Given the description of an element on the screen output the (x, y) to click on. 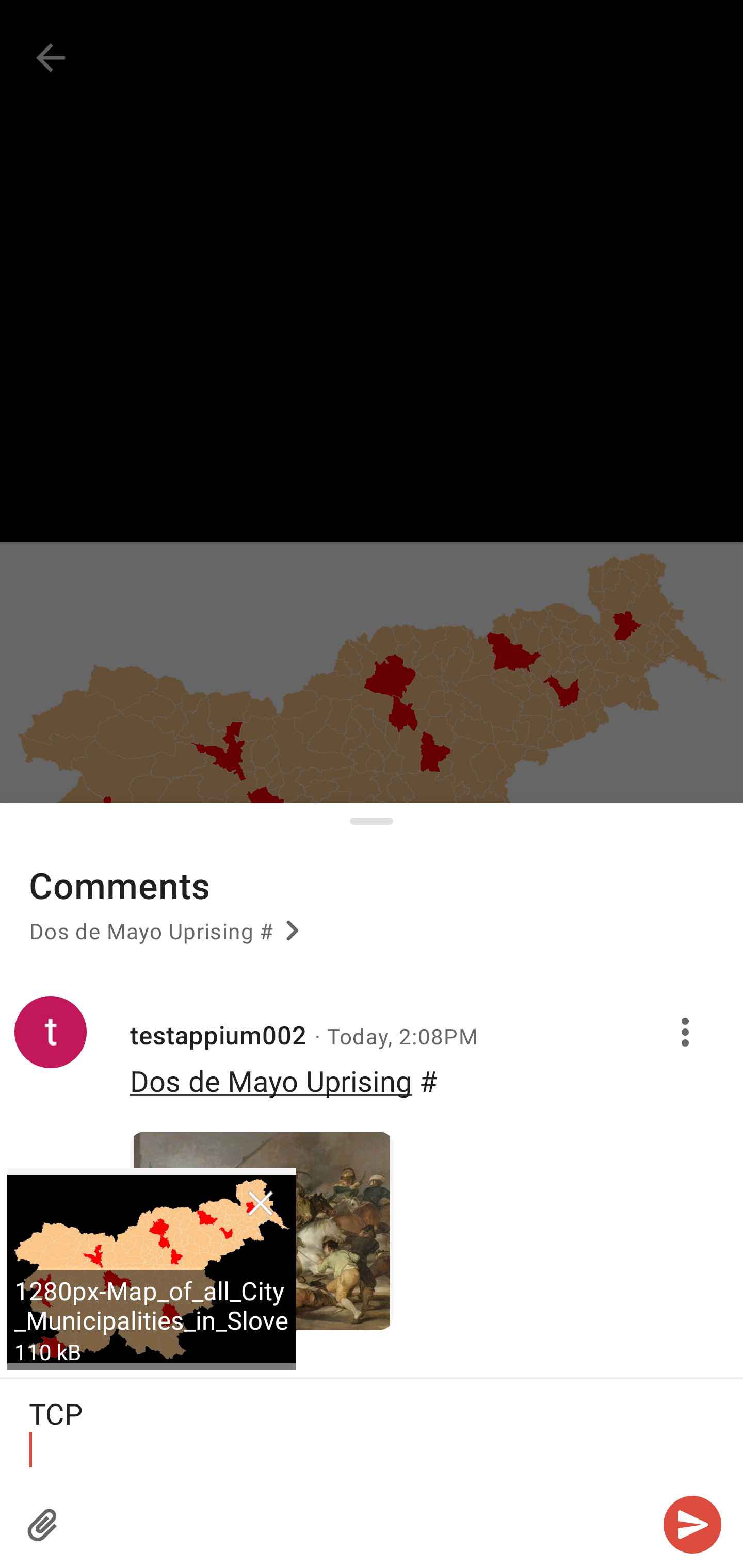
Dos de Mayo Uprising # (167, 938)
More options (688, 1032)
Remove attachment (259, 1204)
TCP
 (371, 1430)
Attachment (43, 1524)
Submit (692, 1524)
